Given the description of an element on the screen output the (x, y) to click on. 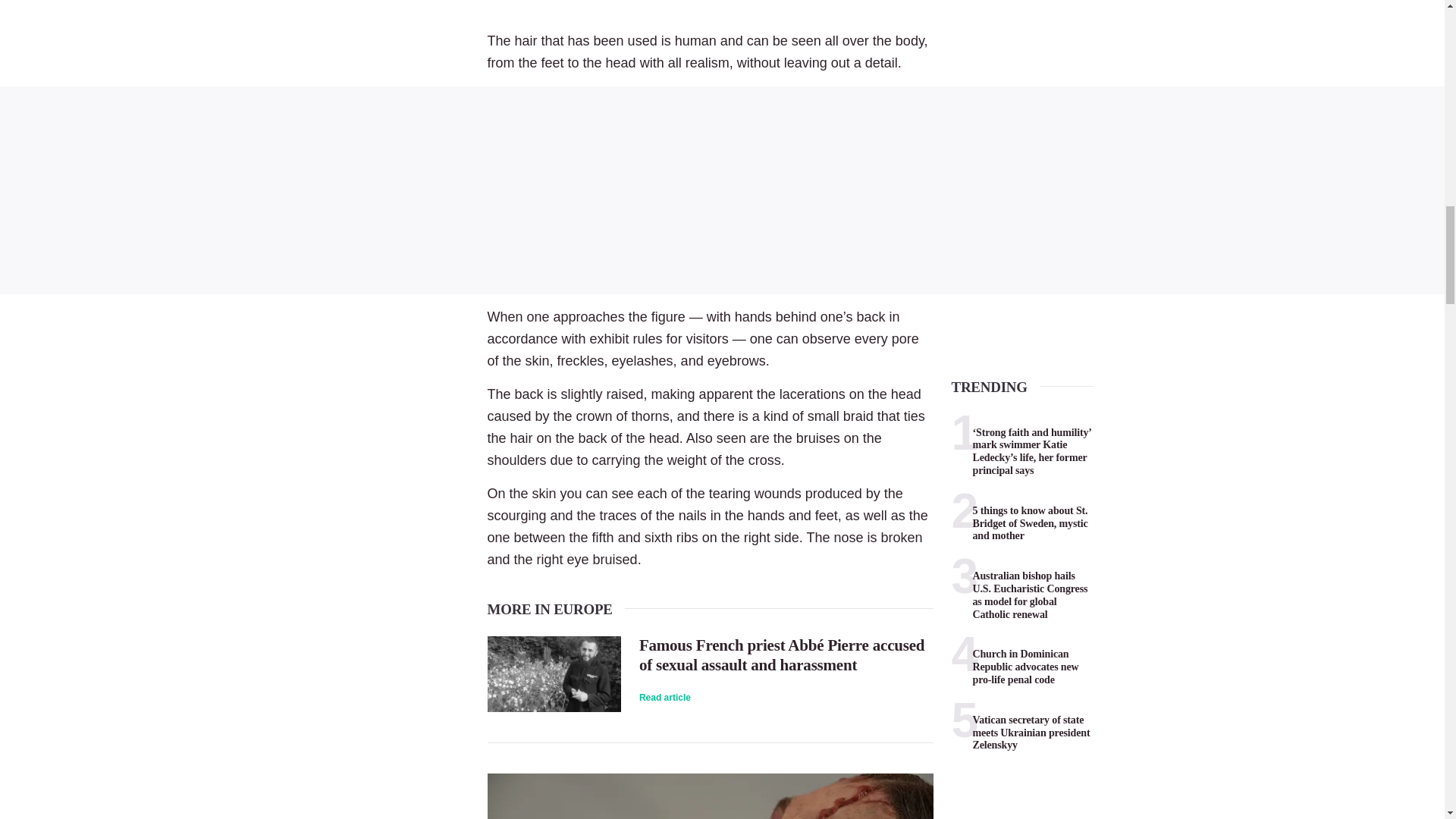
3rd party ad content (721, 190)
